Given the description of an element on the screen output the (x, y) to click on. 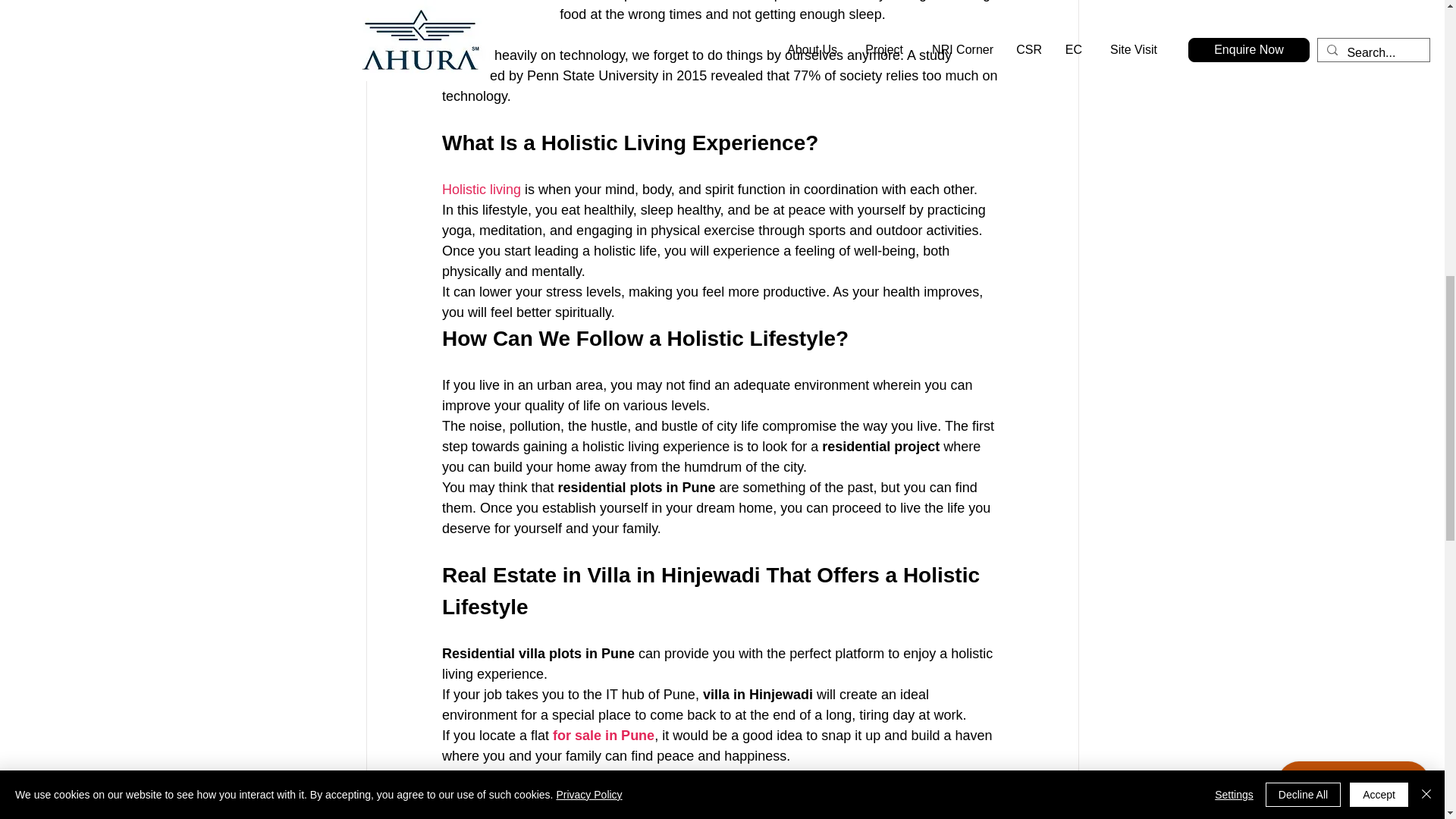
 for sale in Pune (600, 735)
Holistic living (480, 189)
